Given the description of an element on the screen output the (x, y) to click on. 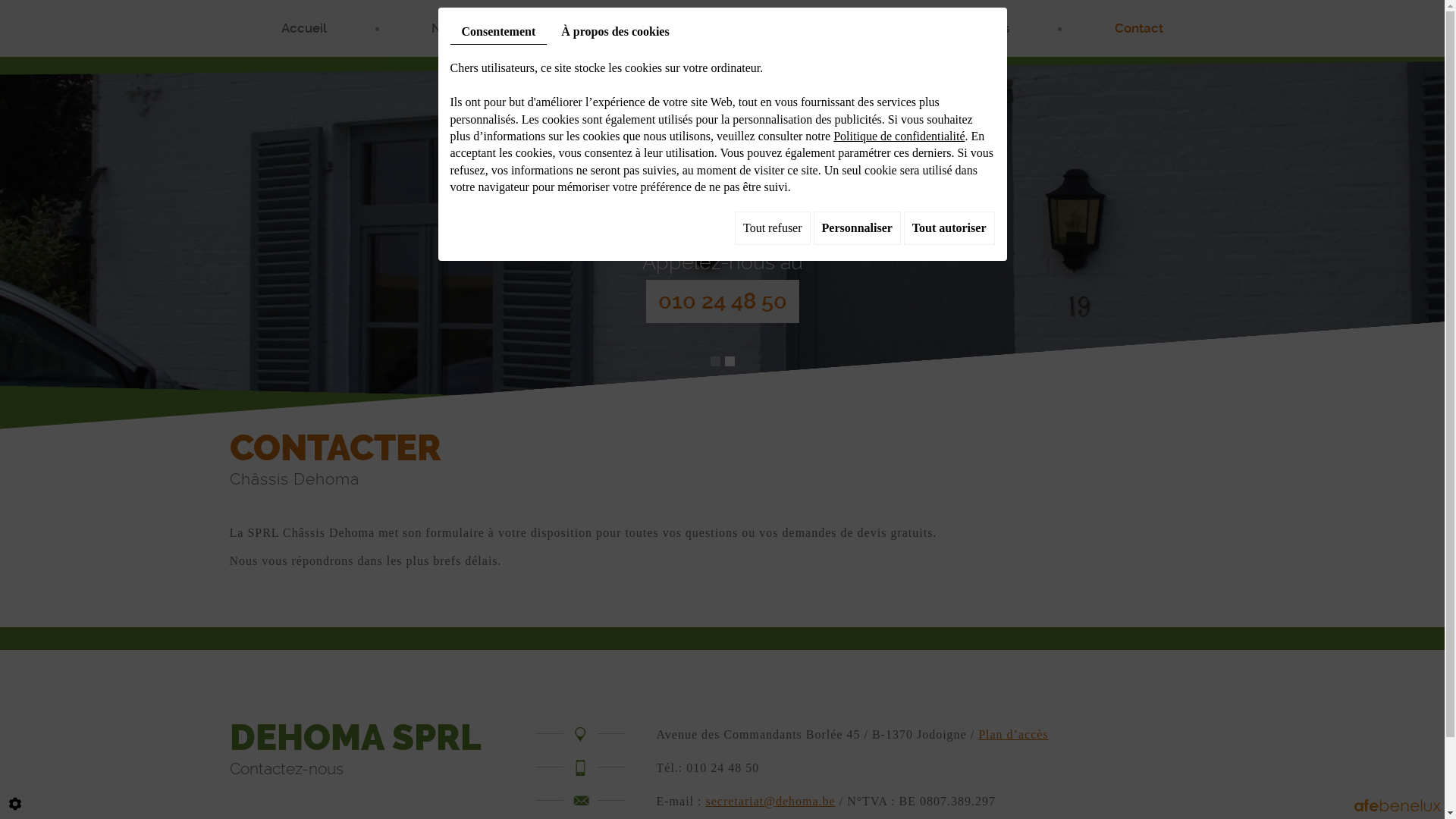
Personnaliser Element type: text (856, 227)
Tout refuser Element type: text (772, 227)
Liens Element type: text (628, 28)
Nos produits Element type: text (469, 28)
010 24 48 50 Element type: text (722, 300)
Tout autoriser Element type: text (948, 227)
Consentement Element type: text (498, 31)
secretariat@dehoma.be Element type: text (769, 800)
Accueil Element type: text (303, 28)
Contact Element type: text (1138, 28)
